Given the description of an element on the screen output the (x, y) to click on. 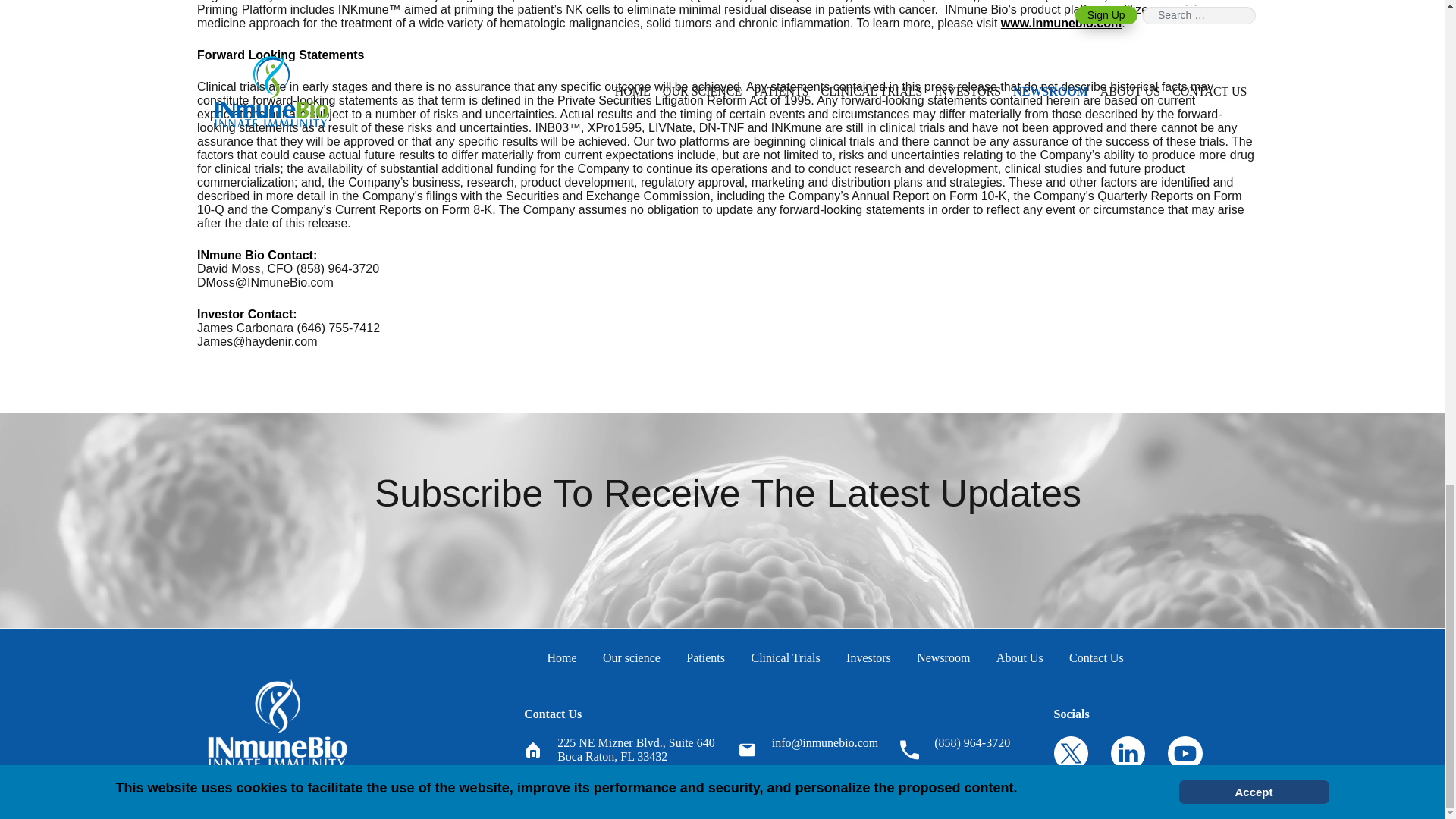
Gantry 5 (278, 723)
